Given the description of an element on the screen output the (x, y) to click on. 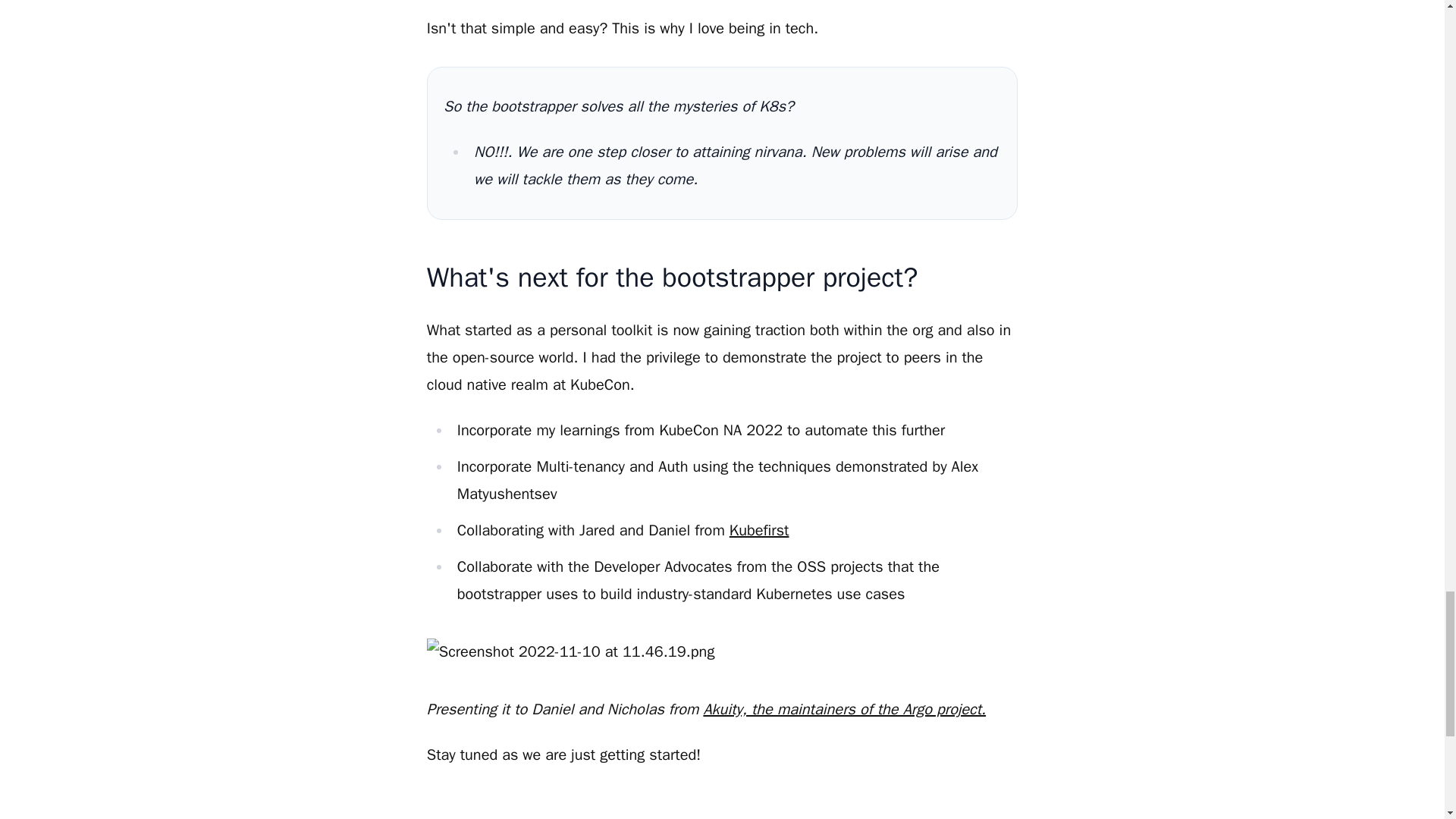
Kubefirst (759, 529)
Akuity, the maintainers of the Argo project. (844, 709)
